Given the description of an element on the screen output the (x, y) to click on. 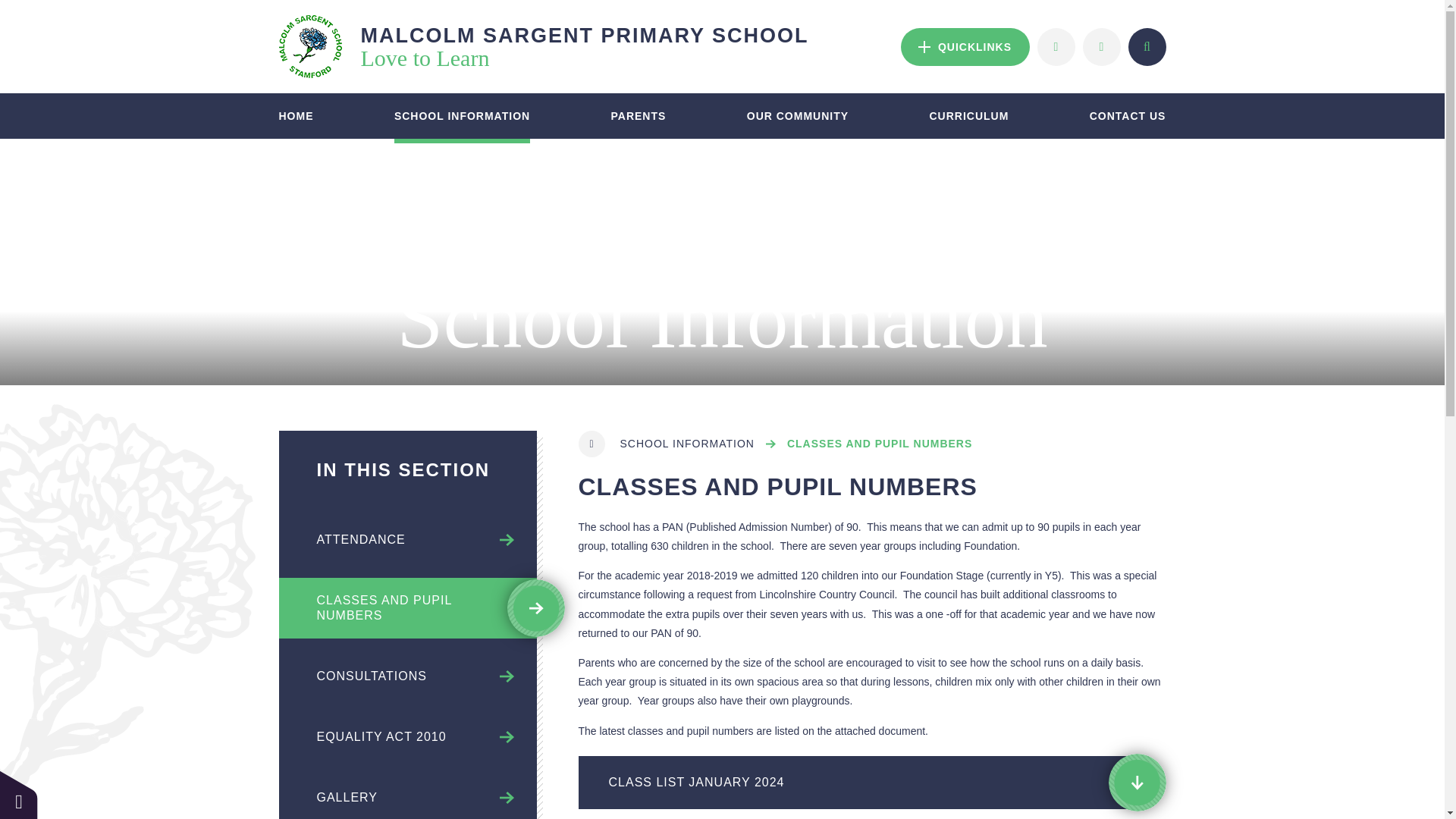
SCHOOL INFORMATION (461, 115)
Toggle Search (544, 46)
Contact Us (1147, 46)
QUICKLINKS (1055, 46)
Facebook (965, 46)
